Given the description of an element on the screen output the (x, y) to click on. 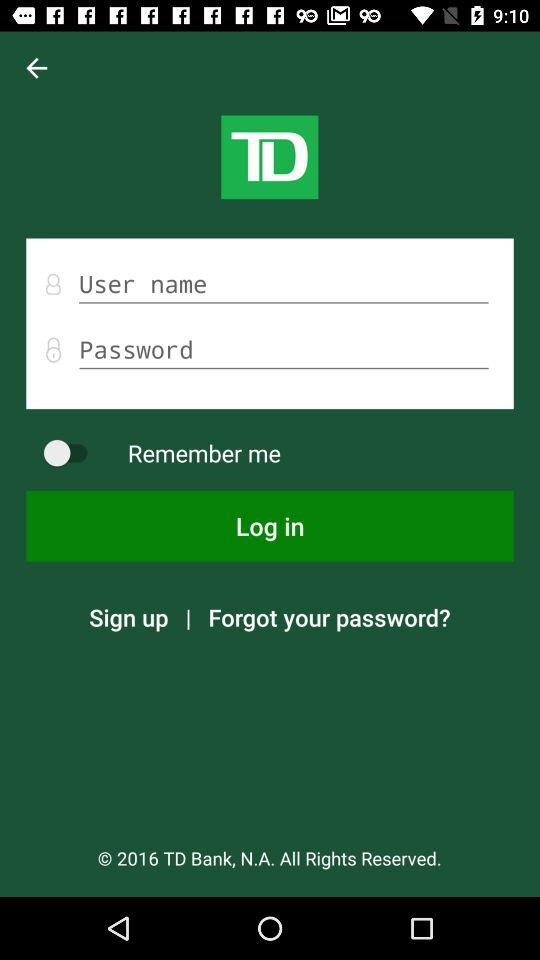
press item to the left of the | (128, 617)
